Given the description of an element on the screen output the (x, y) to click on. 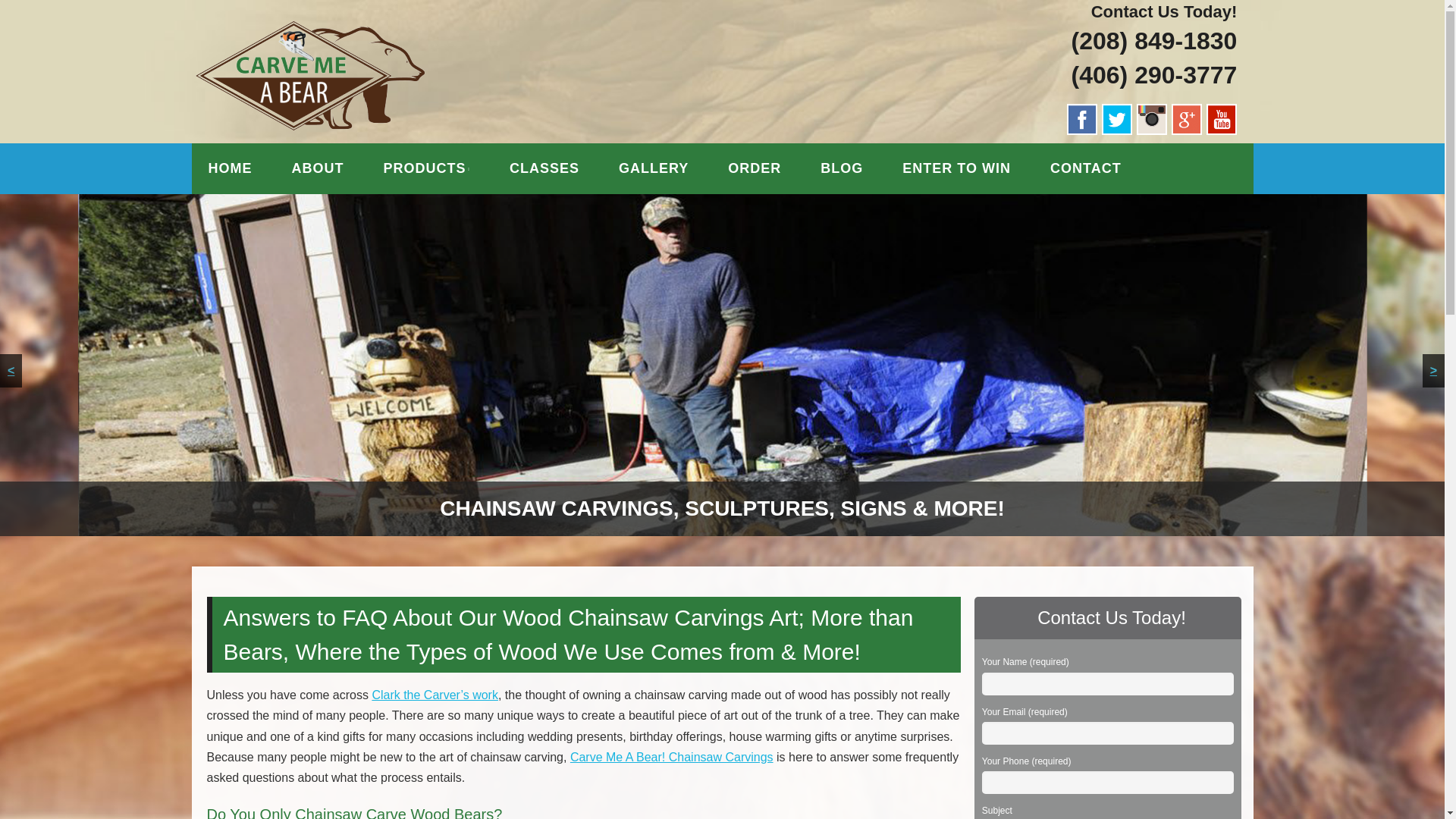
PRODUCTS (426, 168)
Carve Me A Bear (344, 35)
GALLERY (653, 168)
CLASSES (544, 168)
ORDER (754, 168)
CONTACT (1085, 168)
ENTER TO WIN (956, 168)
HOME (229, 168)
ABOUT (316, 168)
BLOG (841, 168)
CARVE ME A BEAR (344, 35)
